Given the description of an element on the screen output the (x, y) to click on. 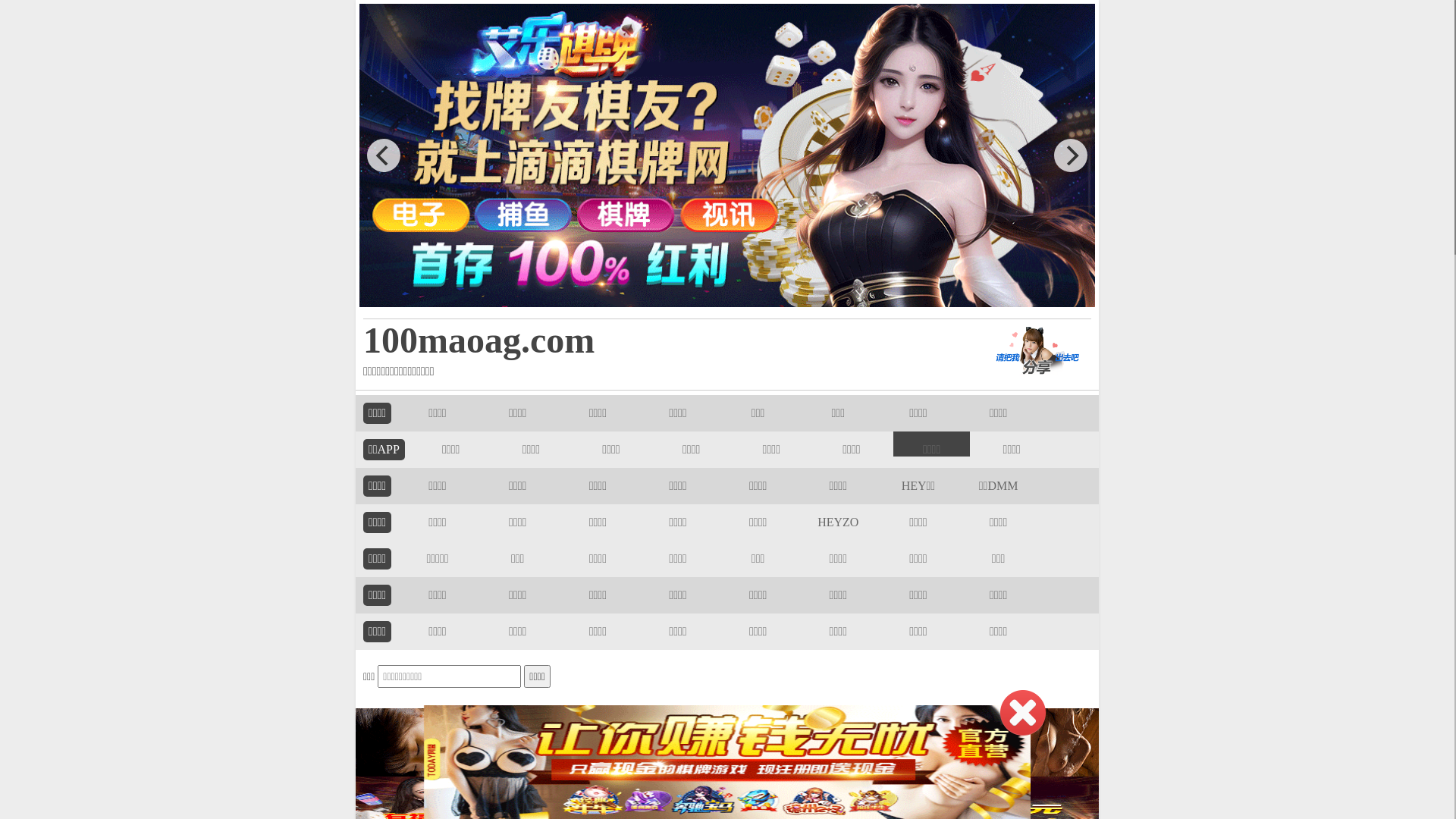
HEYZO Element type: text (837, 521)
100maoag.com Element type: text (654, 339)
